Given the description of an element on the screen output the (x, y) to click on. 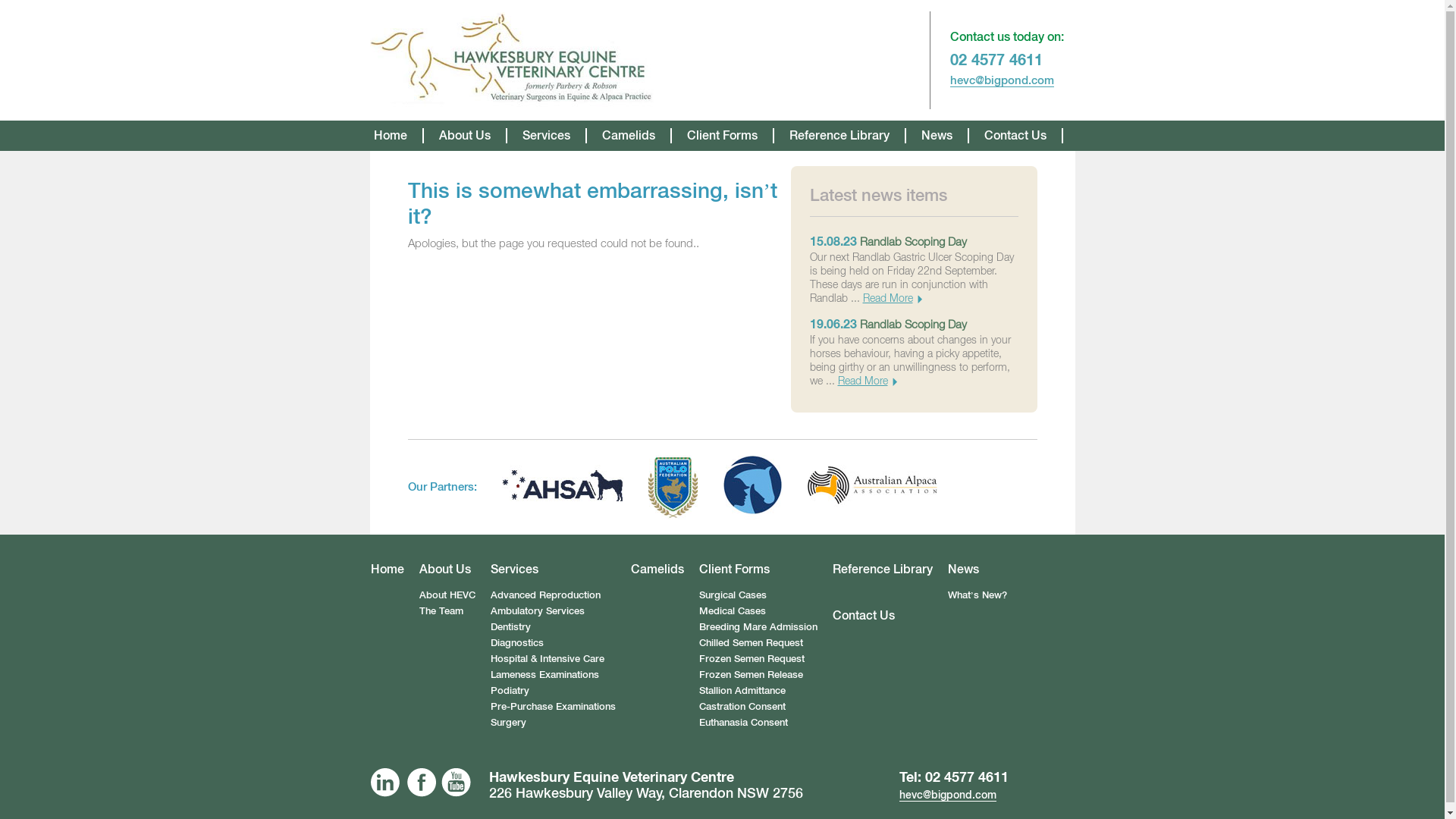
News Element type: text (935, 135)
Contact Us Element type: text (1015, 135)
Reference Library Element type: text (881, 569)
Frozen Semen Request Element type: text (750, 658)
News Element type: text (976, 569)
Home Element type: text (389, 135)
Advanced Reproduction Element type: text (545, 594)
02 4577 4611 Element type: text (995, 59)
Australian Polo Federation Element type: hover (672, 487)
02 4577 4611 Element type: text (966, 776)
The University Sydney Element type: hover (752, 487)
Euthanasia Consent Element type: text (742, 722)
Services Element type: text (545, 135)
Client Forms Element type: text (721, 135)
Diagnostics Element type: text (516, 642)
Australian Alpaca Association Element type: hover (871, 487)
Hospital & Intensive Care Element type: text (547, 658)
Ambulatory Services Element type: text (537, 610)
The Team Element type: text (441, 610)
Surgery Element type: text (508, 722)
About Us Element type: text (447, 569)
Dentistry Element type: text (510, 626)
Read More Element type: text (866, 379)
Surgical Cases Element type: text (731, 594)
Breeding Mare Admission Element type: text (757, 626)
Camelids Element type: text (656, 569)
Contact Us Element type: text (862, 615)
Podiatry Element type: text (509, 690)
Arabian Horse Society Australia Element type: hover (562, 487)
About Us Element type: text (464, 135)
Read More Element type: text (892, 297)
About HEVC Element type: text (447, 594)
Reference Library Element type: text (838, 135)
Stallion Admittance Element type: text (741, 690)
Frozen Semen Release Element type: text (750, 674)
Pre-Purchase Examinations Element type: text (552, 706)
Castration Consent Element type: text (741, 706)
David S. Winlaw Element type: hover (511, 60)
Chilled Semen Request Element type: text (750, 642)
Home Element type: text (387, 569)
Client Forms Element type: text (757, 569)
Camelids Element type: text (628, 135)
Medical Cases Element type: text (731, 610)
Services Element type: text (552, 569)
Lameness Examinations Element type: text (544, 674)
hevc@bigpond.com Element type: text (1001, 80)
hevc@bigpond.com Element type: text (947, 794)
